Given the description of an element on the screen output the (x, y) to click on. 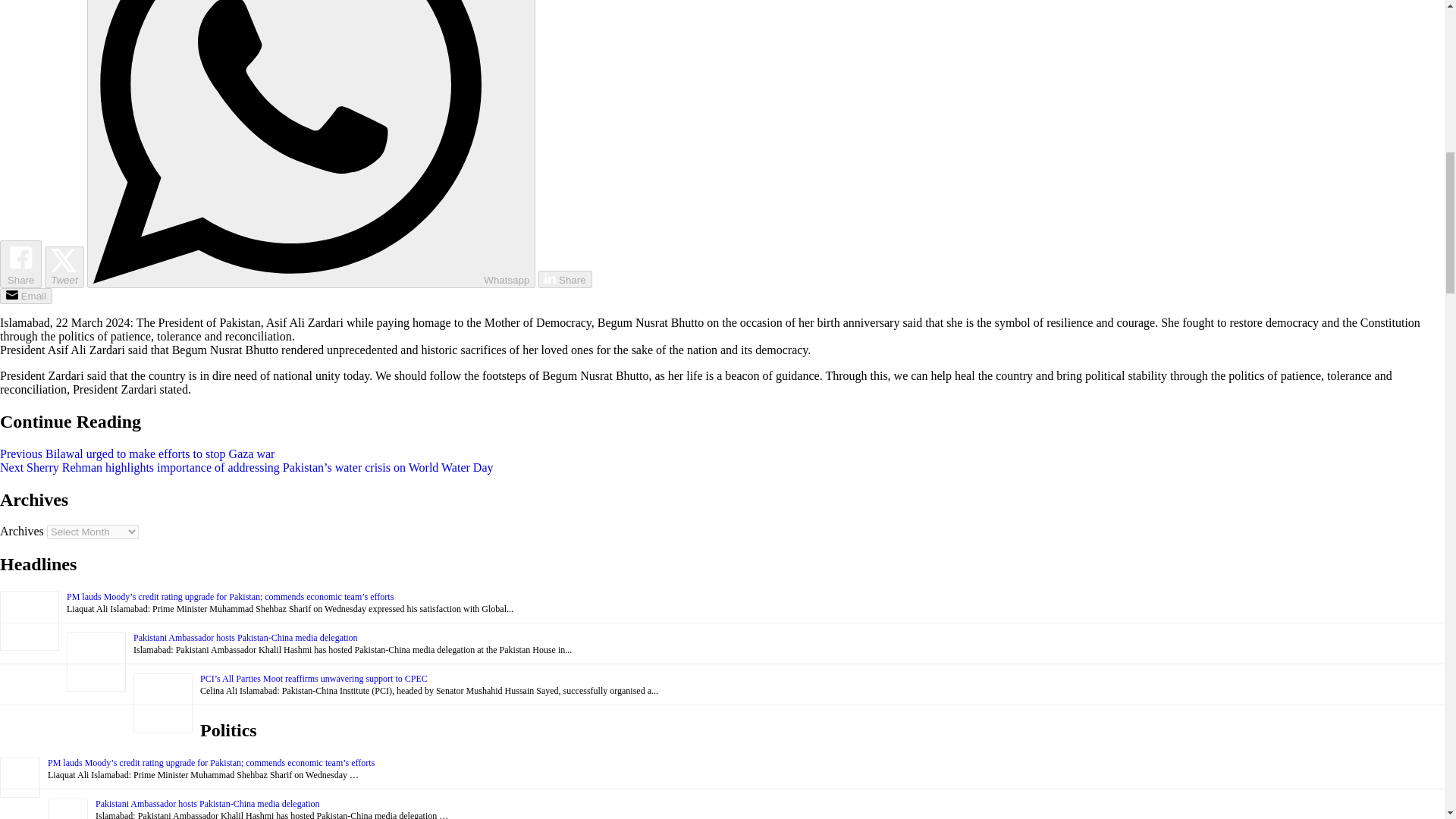
Share (564, 279)
Email (26, 295)
Whatsapp (311, 144)
Previous Bilawal urged to make efforts to stop Gaza war (137, 453)
Tweet (63, 267)
